Given the description of an element on the screen output the (x, y) to click on. 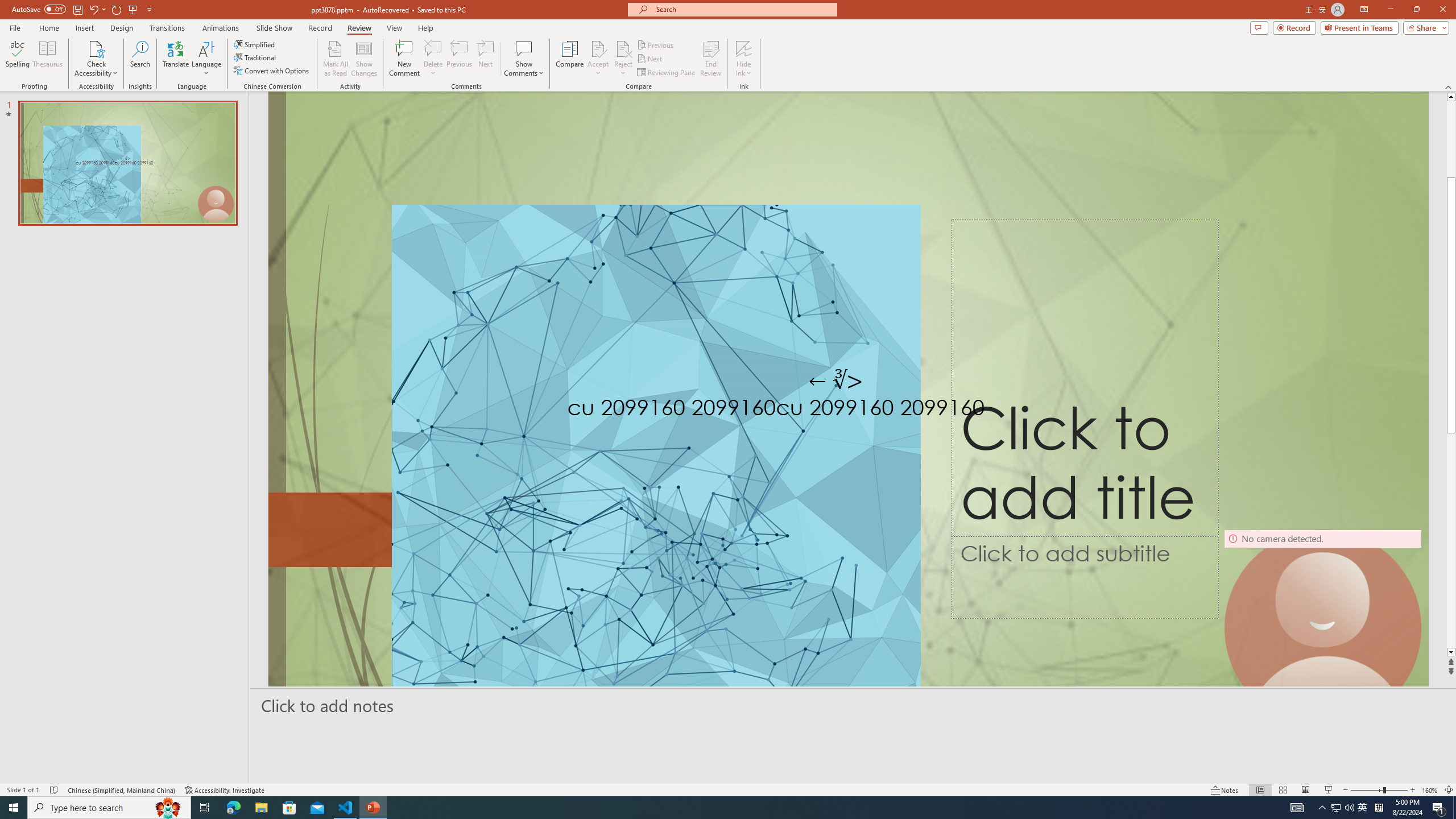
View (395, 28)
Zoom In (1412, 790)
Spell Check No Errors (54, 790)
Notes  (1225, 790)
Class: MsoCommandBar (728, 789)
Delete (432, 48)
Microsoft search (742, 9)
Zoom 160% (1430, 790)
Traditional (255, 56)
An abstract genetic concept (847, 412)
Subtitle TextBox (1085, 577)
Thesaurus... (47, 58)
Reviewing Pane (666, 72)
Close (1442, 9)
